Given the description of an element on the screen output the (x, y) to click on. 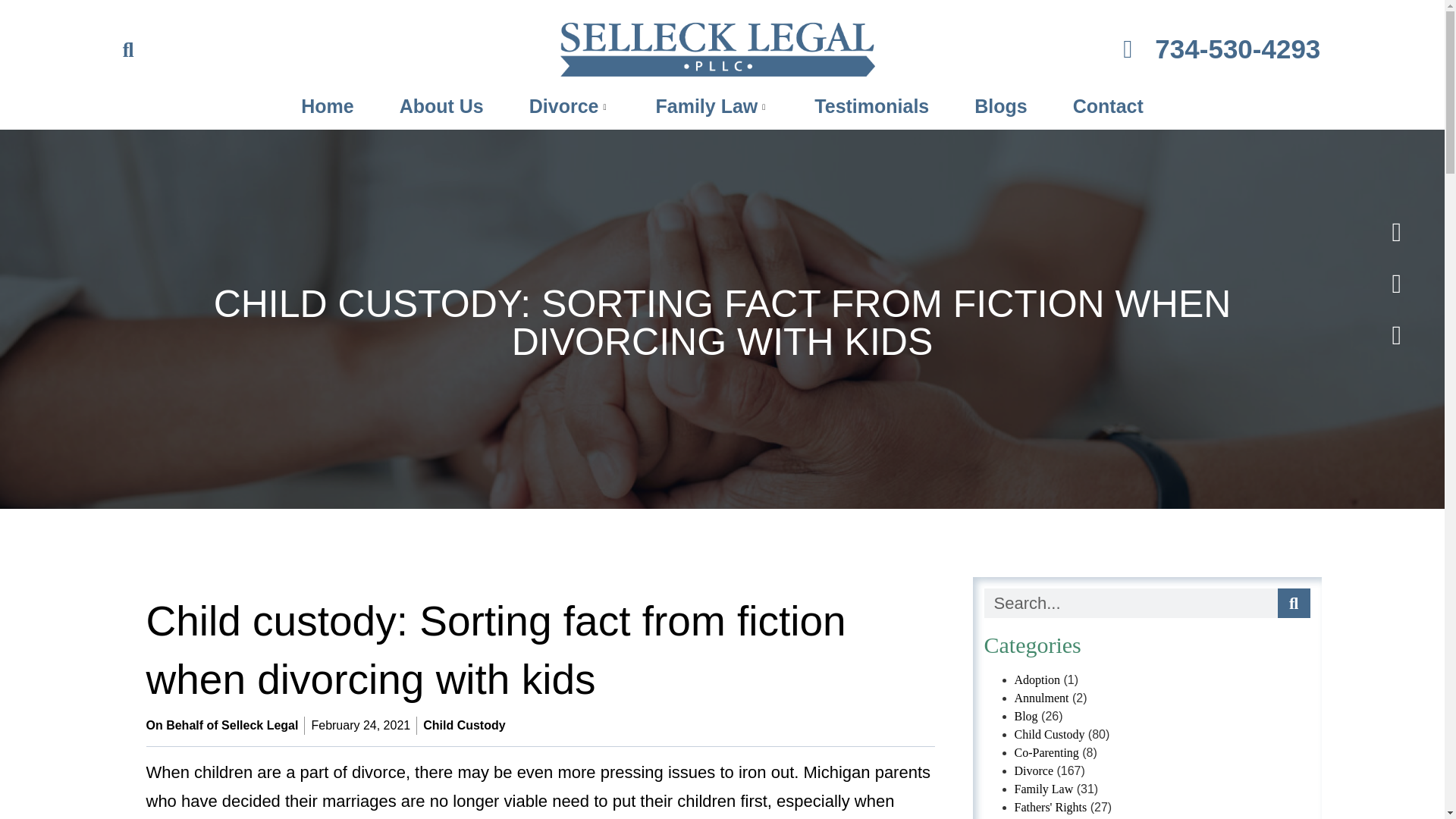
Home (326, 106)
Family Law (712, 106)
734-530-4293 (1101, 49)
Logo9 - Selleck Legal, PLLC (717, 49)
Divorce (569, 106)
Blogs (1000, 106)
Testimonials (872, 106)
About Us (441, 106)
Contact (1107, 106)
